Given the description of an element on the screen output the (x, y) to click on. 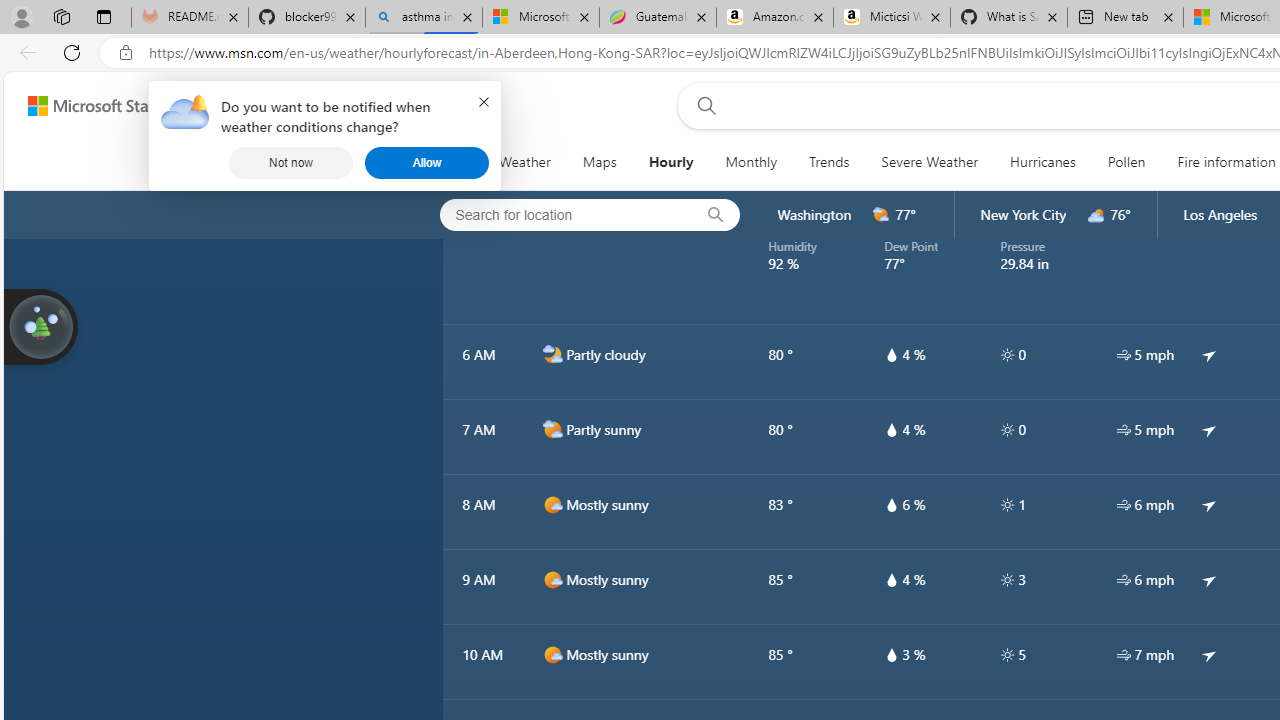
Allow (426, 162)
d2000 (552, 429)
Not now (291, 162)
hourlyTable/wind (1123, 654)
Severe Weather (929, 162)
Hurricanes (1042, 162)
Join us in planting real trees to help our planet! (40, 327)
